Given the description of an element on the screen output the (x, y) to click on. 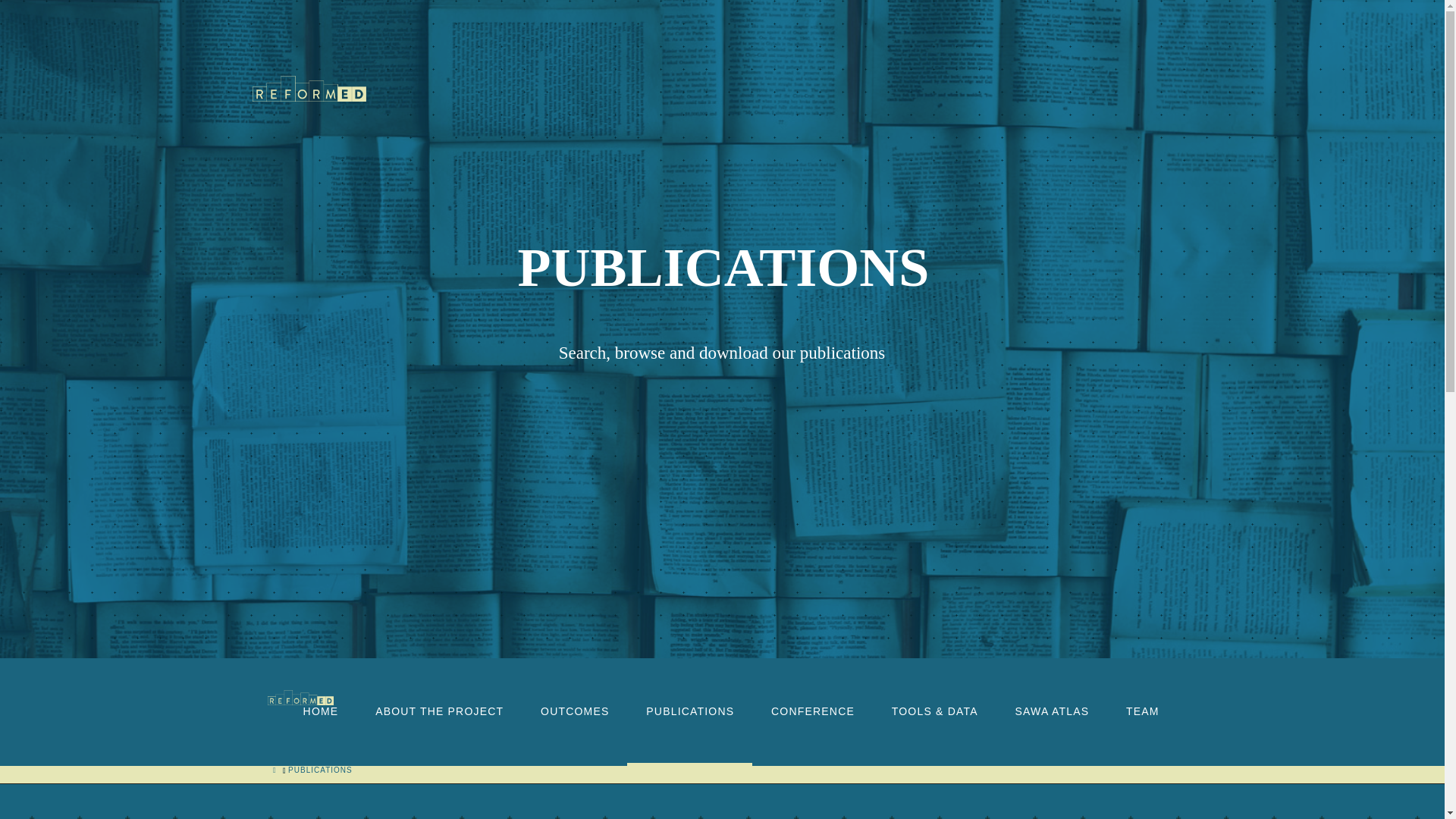
HOME (319, 735)
PUBLICATIONS (320, 770)
CONFERENCE (812, 735)
OUTCOMES (574, 735)
SAWA ATLAS (1050, 735)
PUBLICATIONS (689, 735)
ABOUT THE PROJECT (438, 735)
You Are Here (320, 770)
TEAM (1141, 735)
